Given the description of an element on the screen output the (x, y) to click on. 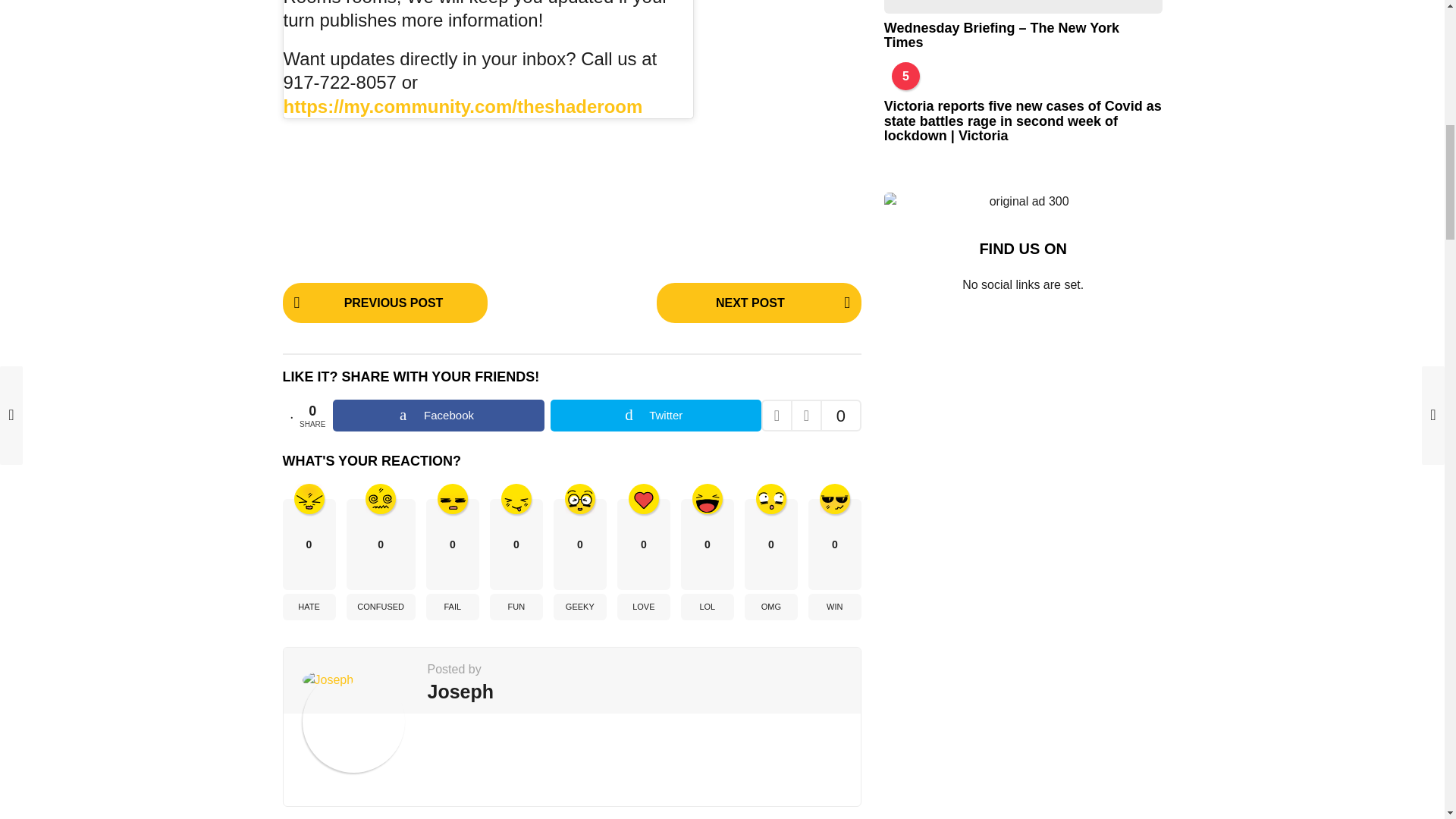
Share on Facebook (438, 415)
Share on Twitter (655, 415)
NEXT POST (758, 302)
PREVIOUS POST (384, 302)
Facebook (438, 415)
Twitter (655, 415)
